Given the description of an element on the screen output the (x, y) to click on. 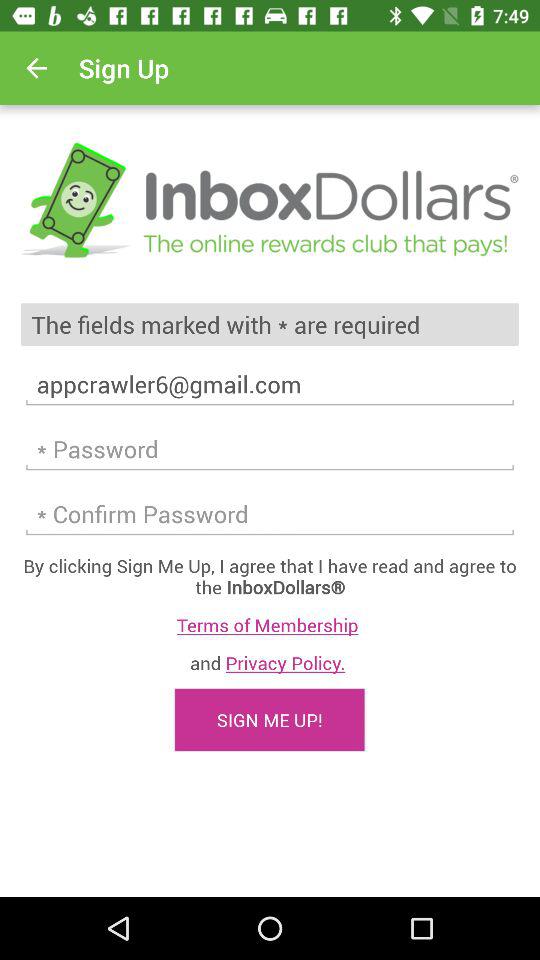
turn off item above the sign me up! item (270, 662)
